Given the description of an element on the screen output the (x, y) to click on. 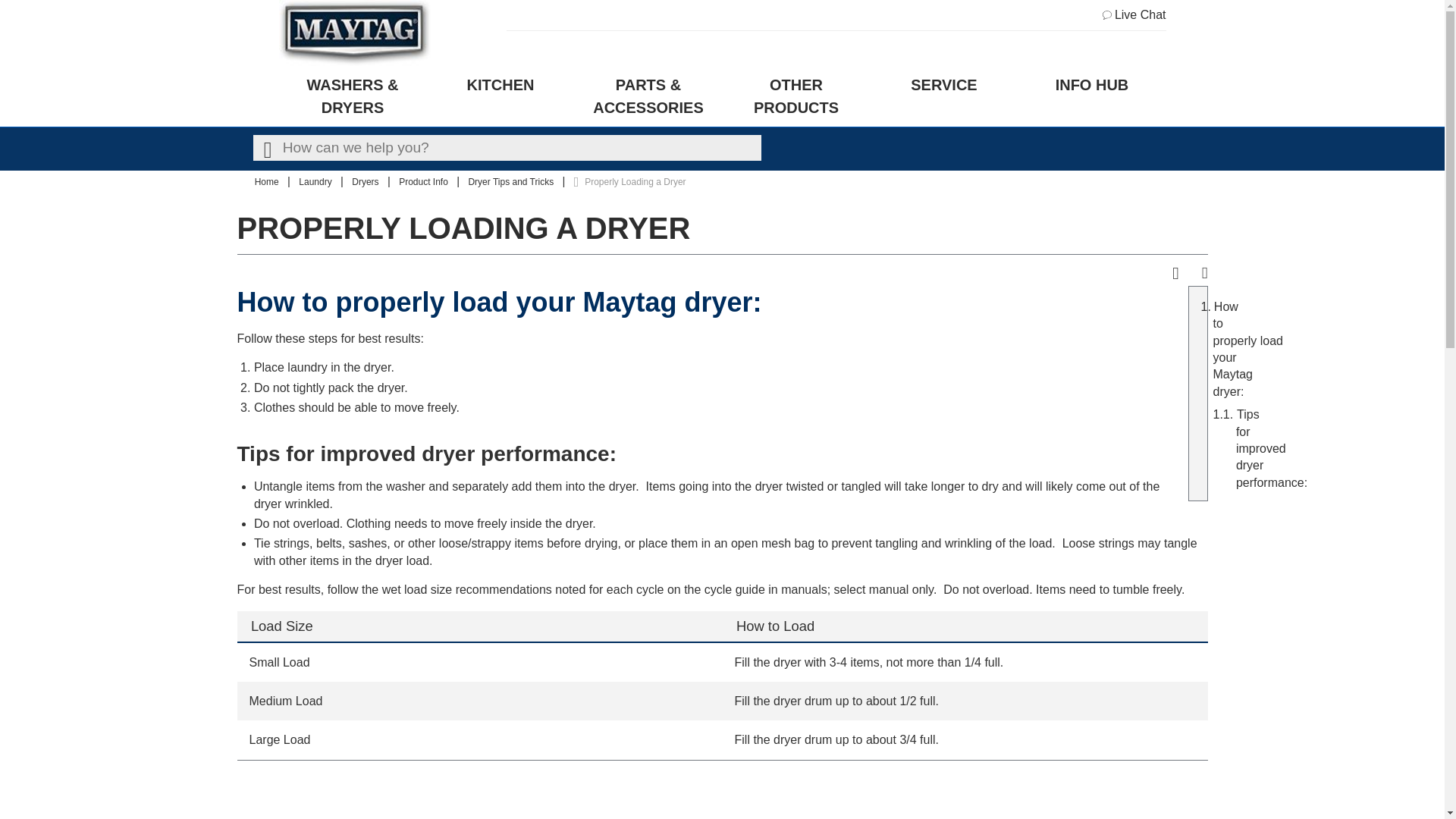
KITCHEN (499, 96)
OTHER PRODUCTS (795, 96)
Chat (1134, 14)
Live Chat (1134, 14)
INFO HUB (1091, 96)
Maytag (354, 33)
SERVICE (943, 96)
